Given the description of an element on the screen output the (x, y) to click on. 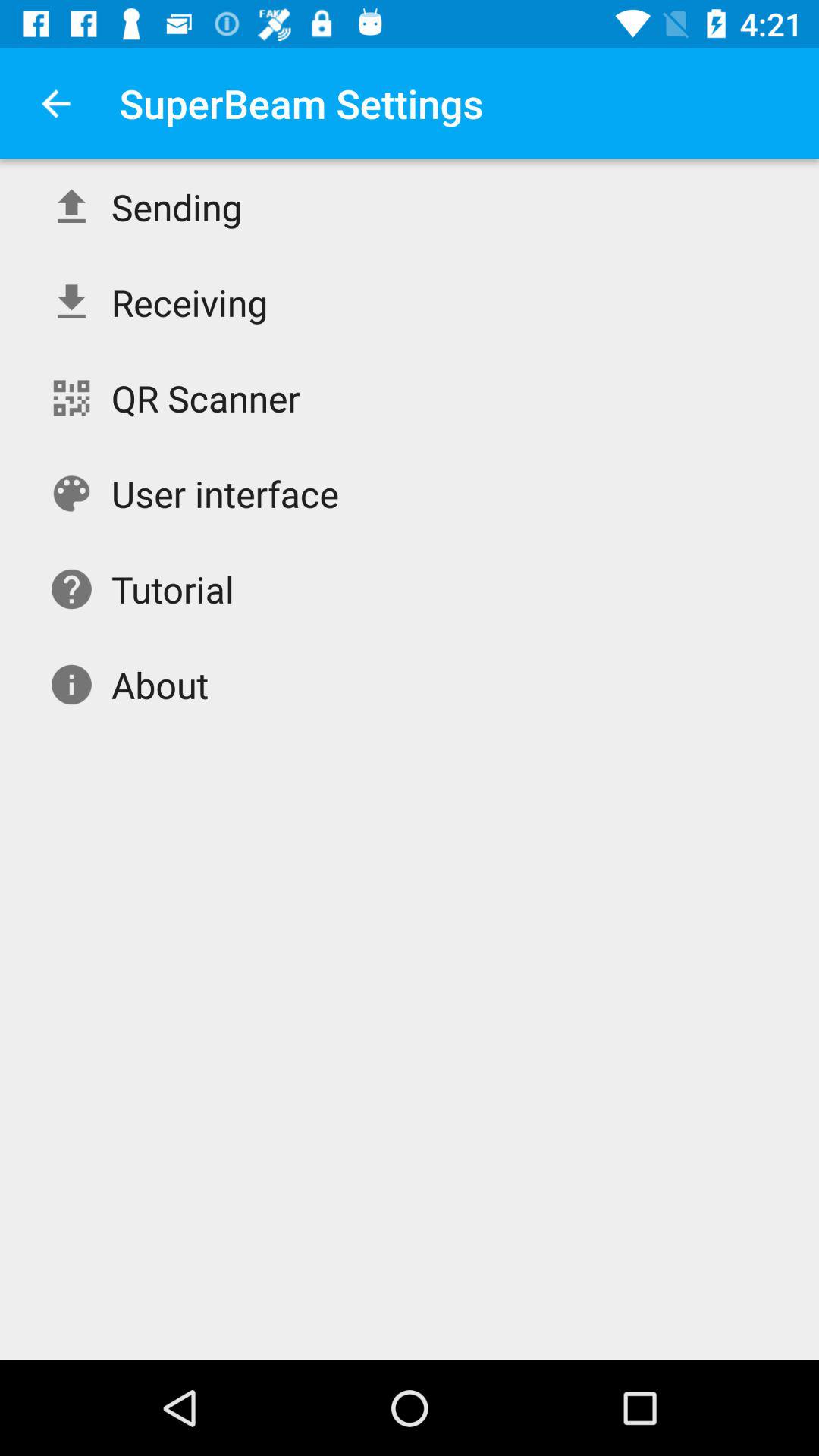
tap the item above the qr scanner item (189, 302)
